Given the description of an element on the screen output the (x, y) to click on. 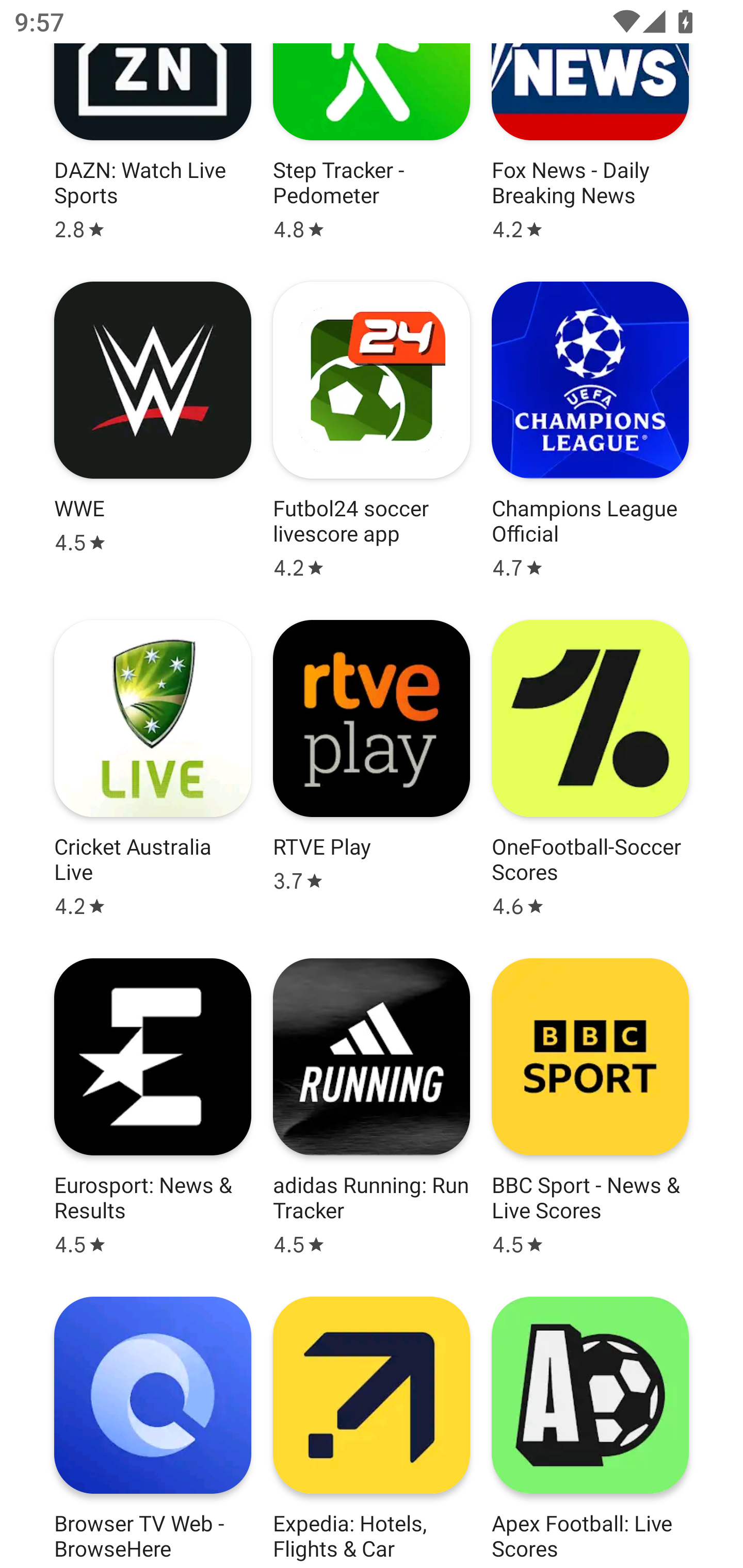
App: DAZN: Watch Live Sports
Star rating: 2.8


 (152, 145)
App: Step Tracker - Pedometer
Star rating: 4.8


 (371, 145)
App: WWE
Star rating: 4.5


 (152, 429)
App: Champions League Official
Star rating: 4.7


 (589, 429)
App: Cricket Australia Live
Star rating: 4.2


 (152, 768)
App: RTVE Play
Star rating: 3.7


 (371, 768)
App: OneFootball-Soccer Scores
Star rating: 4.6


 (589, 768)
App: Eurosport: News & Results
Star rating: 4.5


 (152, 1107)
